Given the description of an element on the screen output the (x, y) to click on. 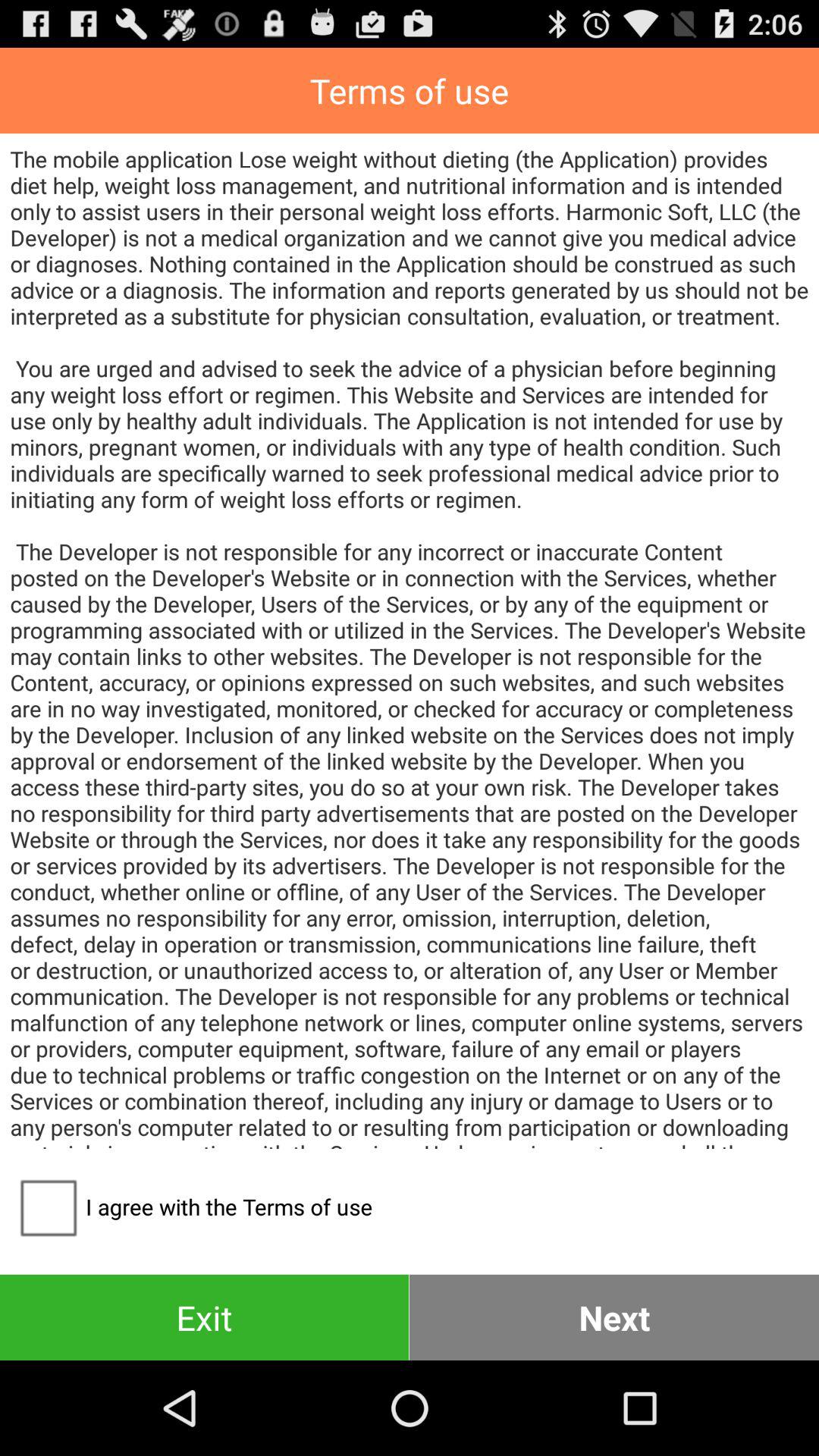
open exit icon (204, 1317)
